Given the description of an element on the screen output the (x, y) to click on. 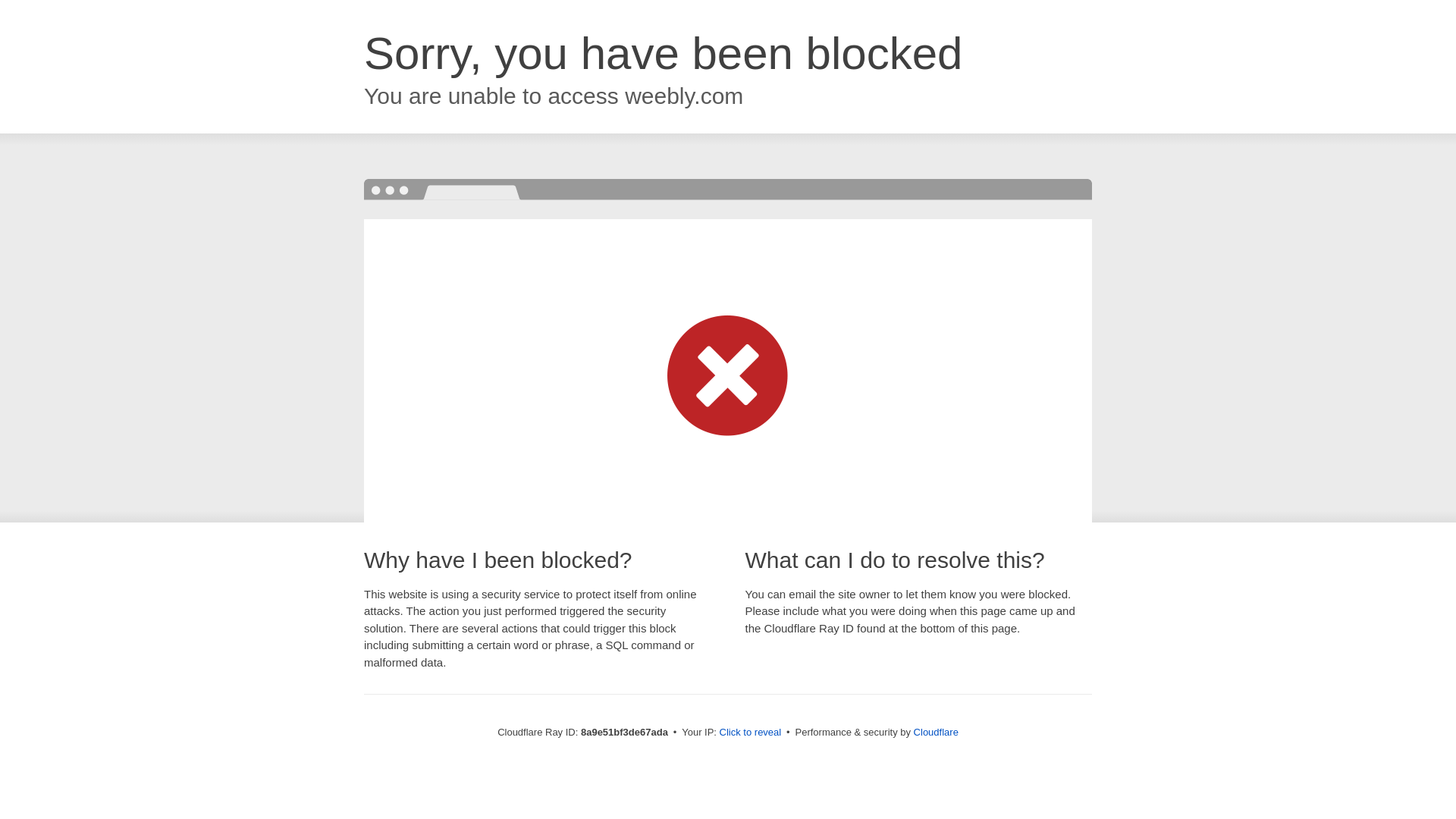
Cloudflare (936, 731)
Click to reveal (750, 732)
